Given the description of an element on the screen output the (x, y) to click on. 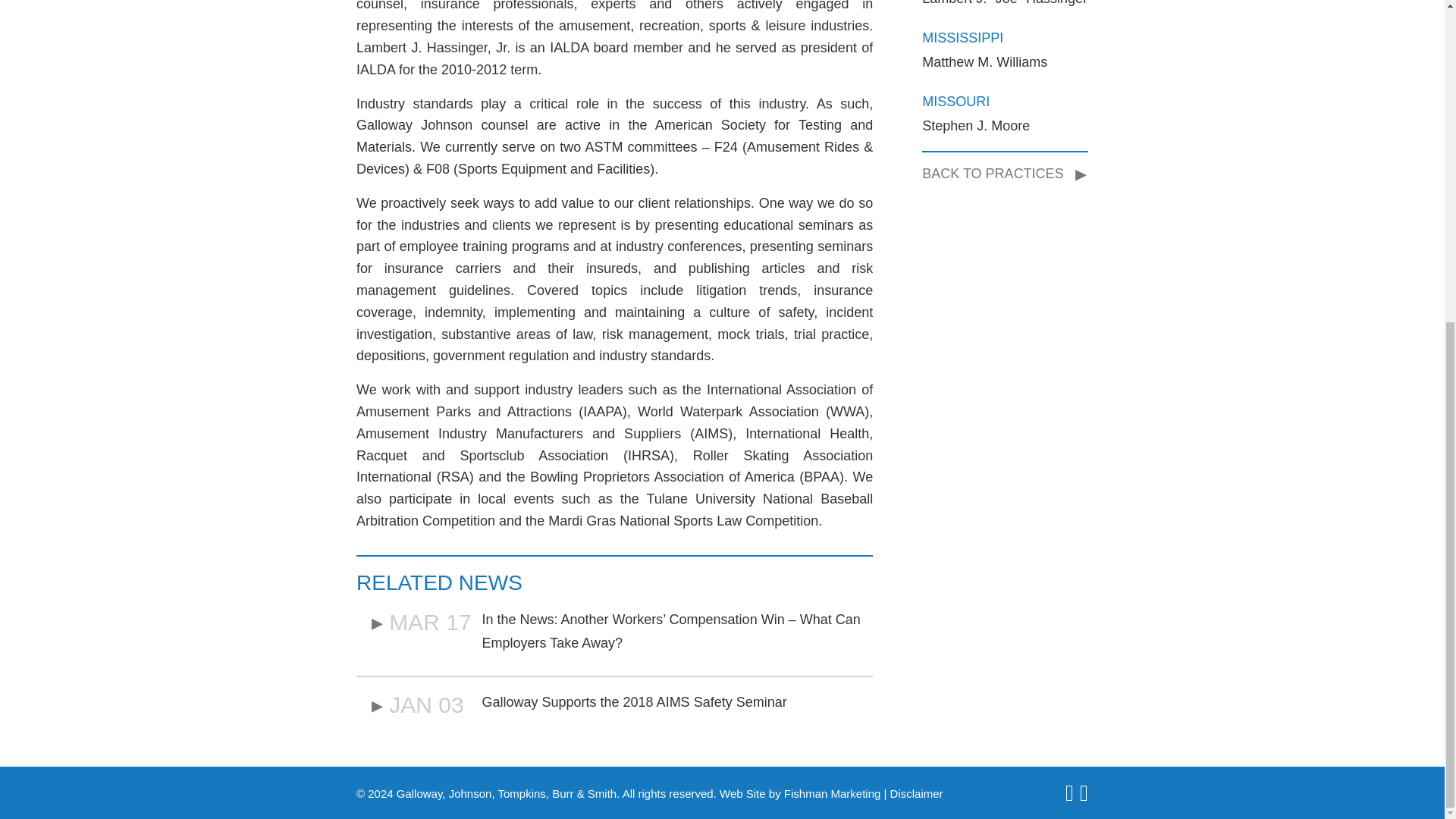
Disclaimer (916, 793)
Stephen J. Moore (975, 125)
Fishman Marketing (832, 793)
Matthew M. Williams (983, 61)
BACK TO PRACTICES (997, 173)
Galloway Supports the 2018 AIMS Safety Seminar (633, 702)
Lambert J. "Joe" Hassinger (1004, 2)
